Given the description of an element on the screen output the (x, y) to click on. 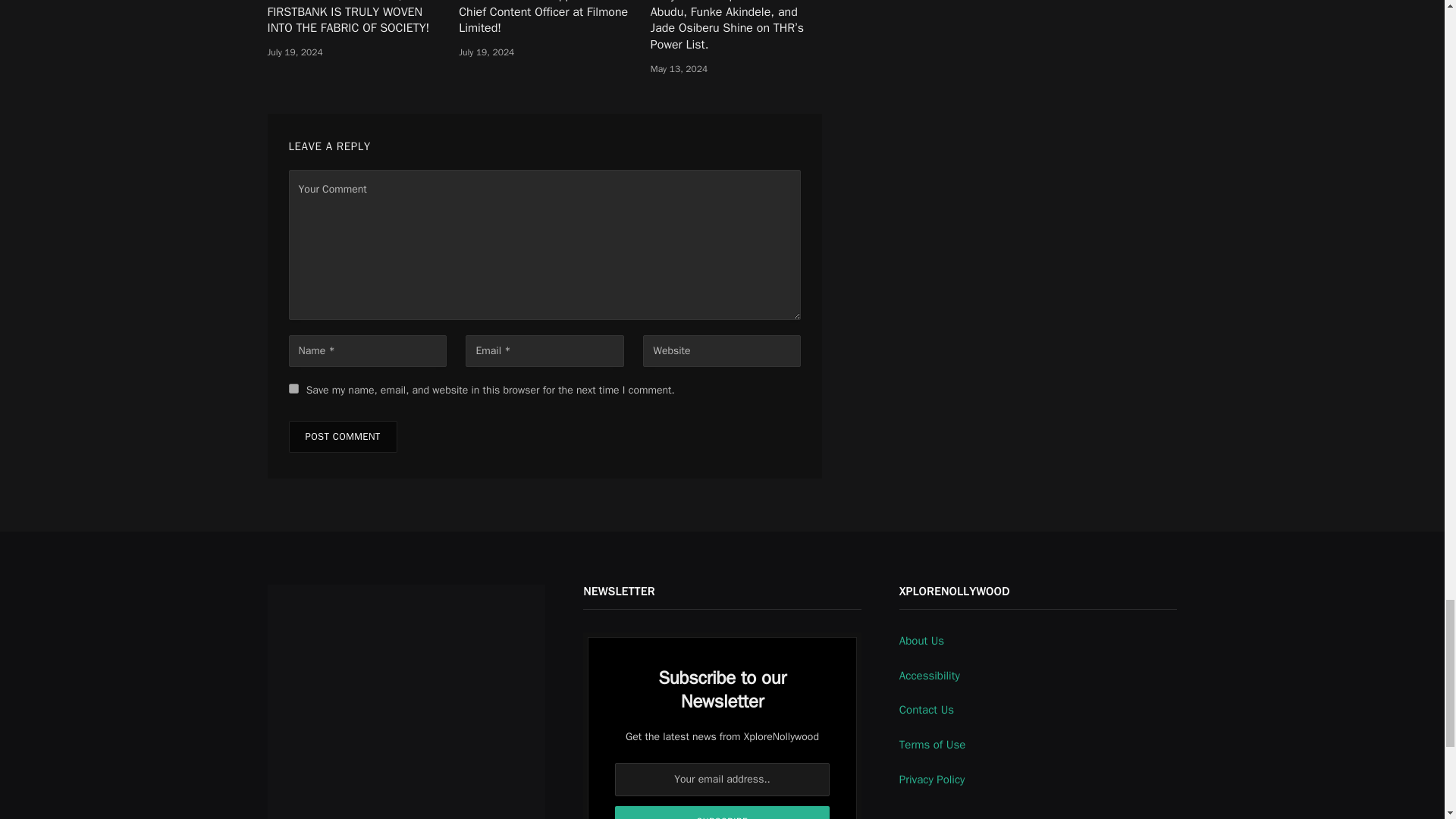
Post Comment (342, 436)
yes (293, 388)
Subscribe (721, 812)
